Given the description of an element on the screen output the (x, y) to click on. 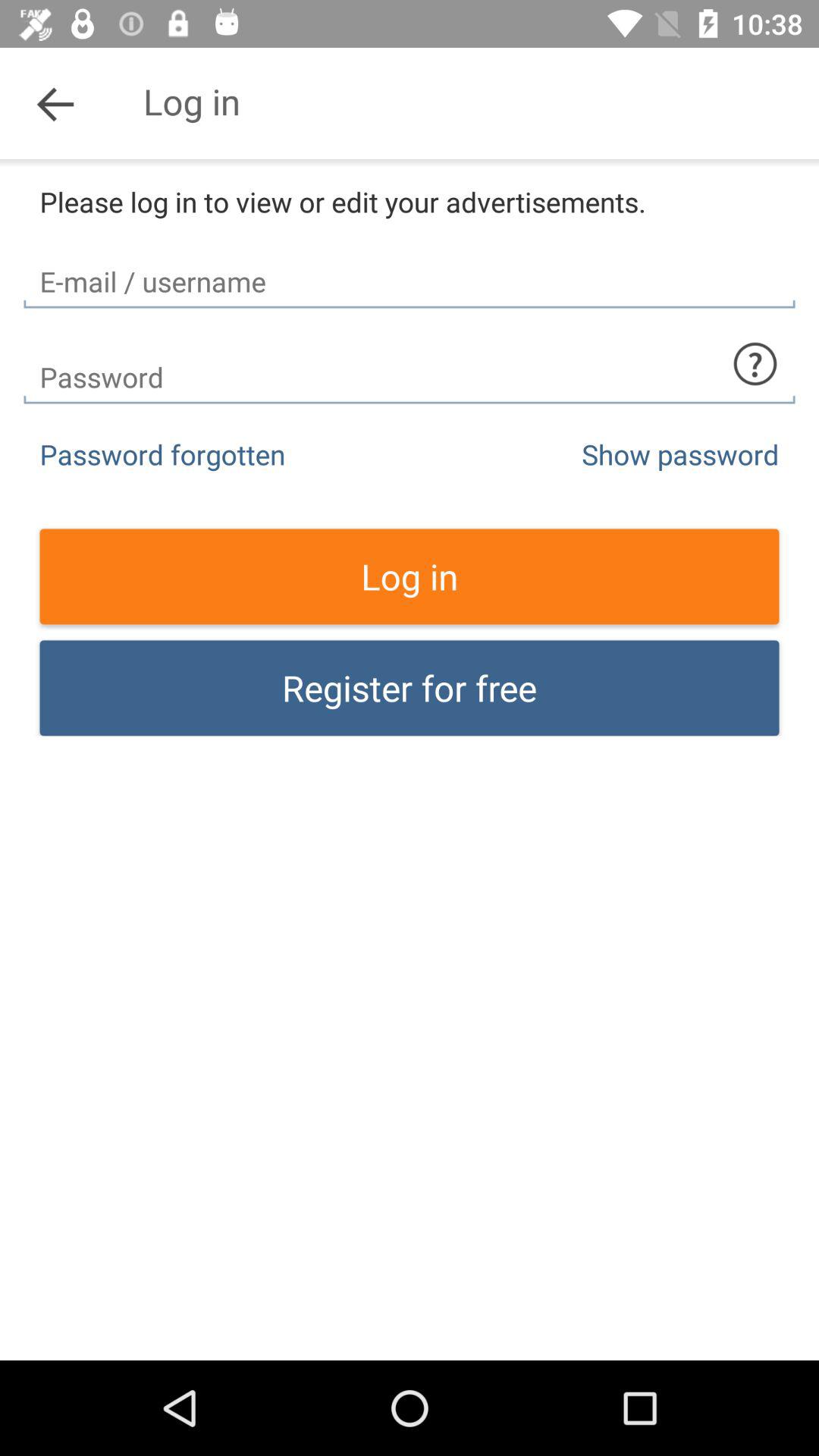
select the item to the right of the password forgotten (680, 454)
